Given the description of an element on the screen output the (x, y) to click on. 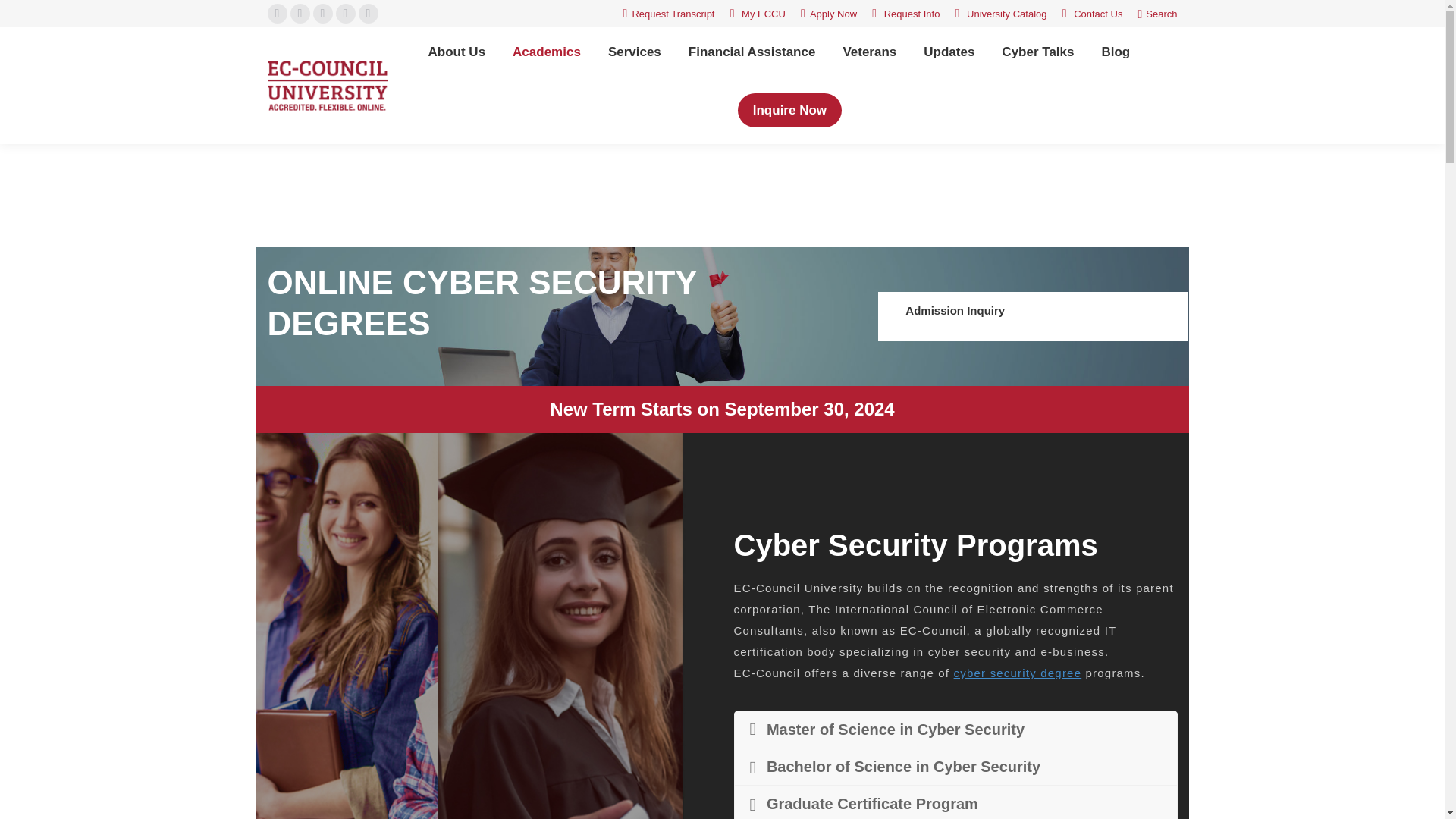
X page opens in new window (298, 13)
Contact Us (1092, 13)
Instagram page opens in new window (367, 13)
YouTube page opens in new window (344, 13)
Linkedin page opens in new window (322, 13)
Facebook page opens in new window (276, 13)
Request Transcript (668, 13)
Search (1156, 12)
Request Info (905, 13)
Apply Now (828, 13)
Academics (546, 51)
Instagram page opens in new window (367, 13)
My ECCU (758, 13)
About Us (457, 51)
YouTube page opens in new window (344, 13)
